Given the description of an element on the screen output the (x, y) to click on. 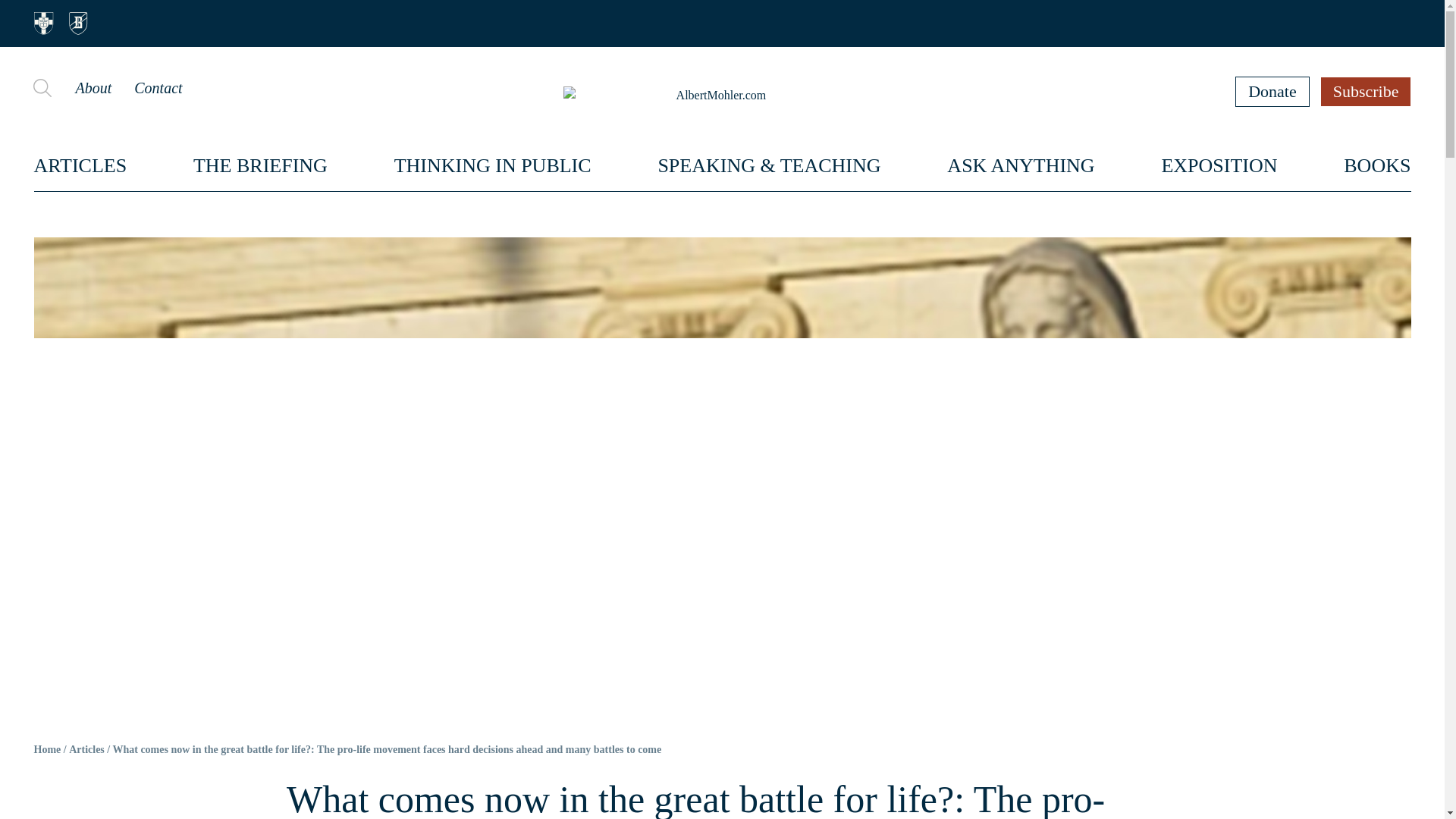
Donate (1272, 91)
Subscribe (1366, 91)
ASK ANYTHING (1020, 165)
BOOKS (1376, 165)
ARTICLES (79, 165)
THINKING IN PUBLIC (492, 165)
THE BRIEFING (260, 165)
Contact (157, 87)
About (93, 87)
EXPOSITION (1218, 165)
